Given the description of an element on the screen output the (x, y) to click on. 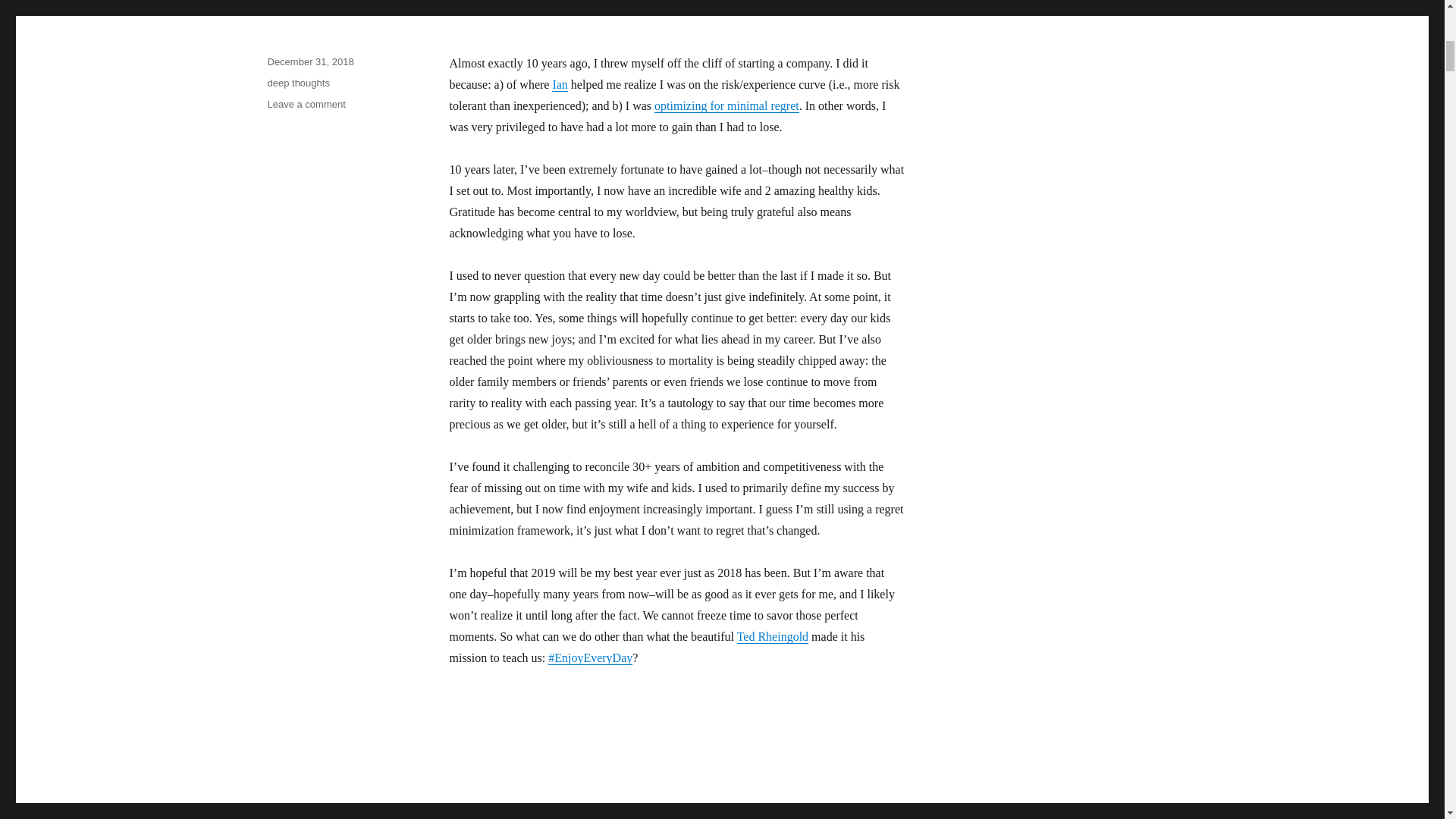
December 31, 2018 (309, 61)
Ian (559, 83)
deep thoughts (305, 103)
optimizing for minimal regret (297, 82)
Ted Rheingold (726, 105)
